Given the description of an element on the screen output the (x, y) to click on. 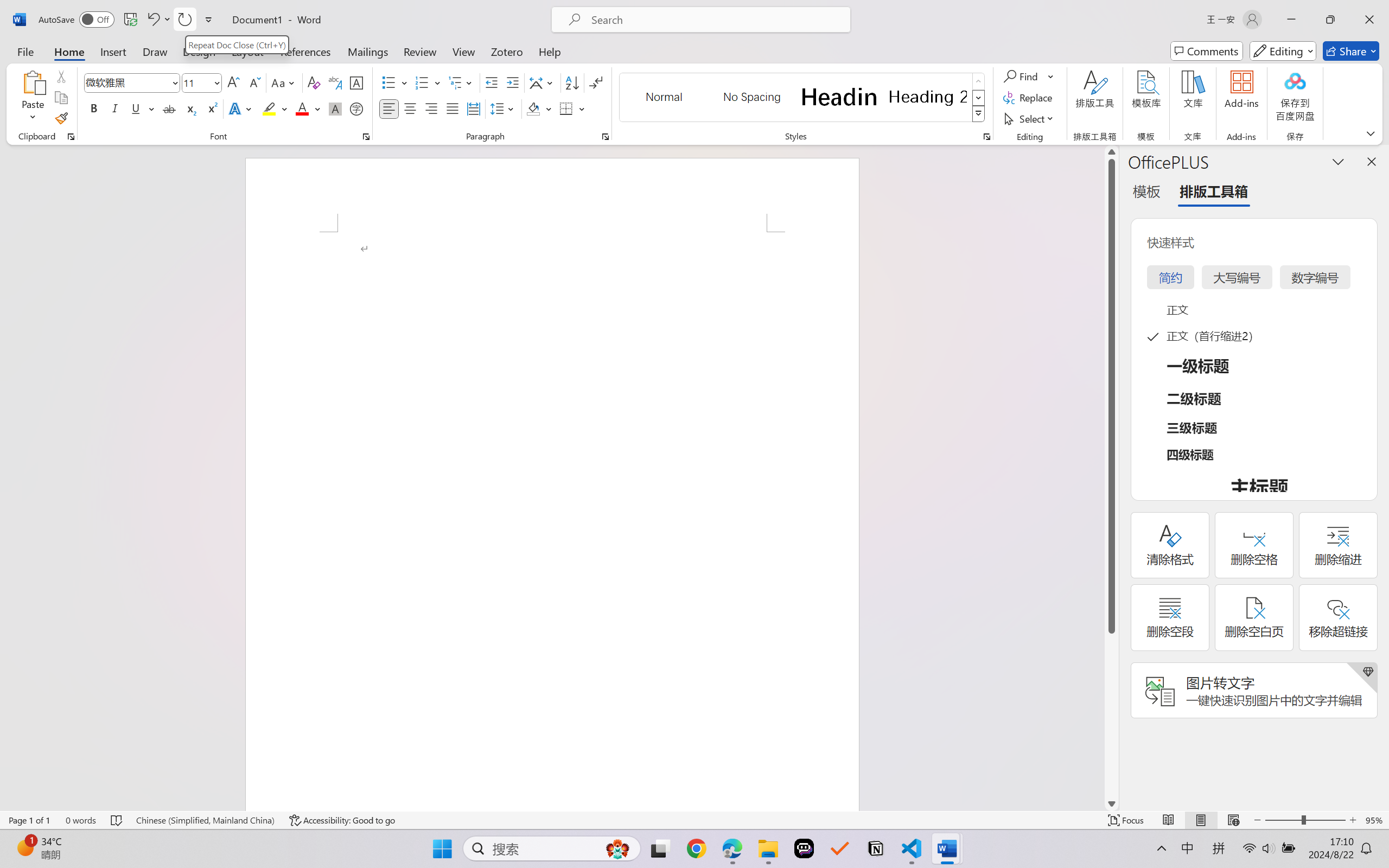
Repeat Doc Close (184, 19)
Microsoft search (715, 19)
Zoom 95% (1374, 819)
Page down (1111, 714)
